Given the description of an element on the screen output the (x, y) to click on. 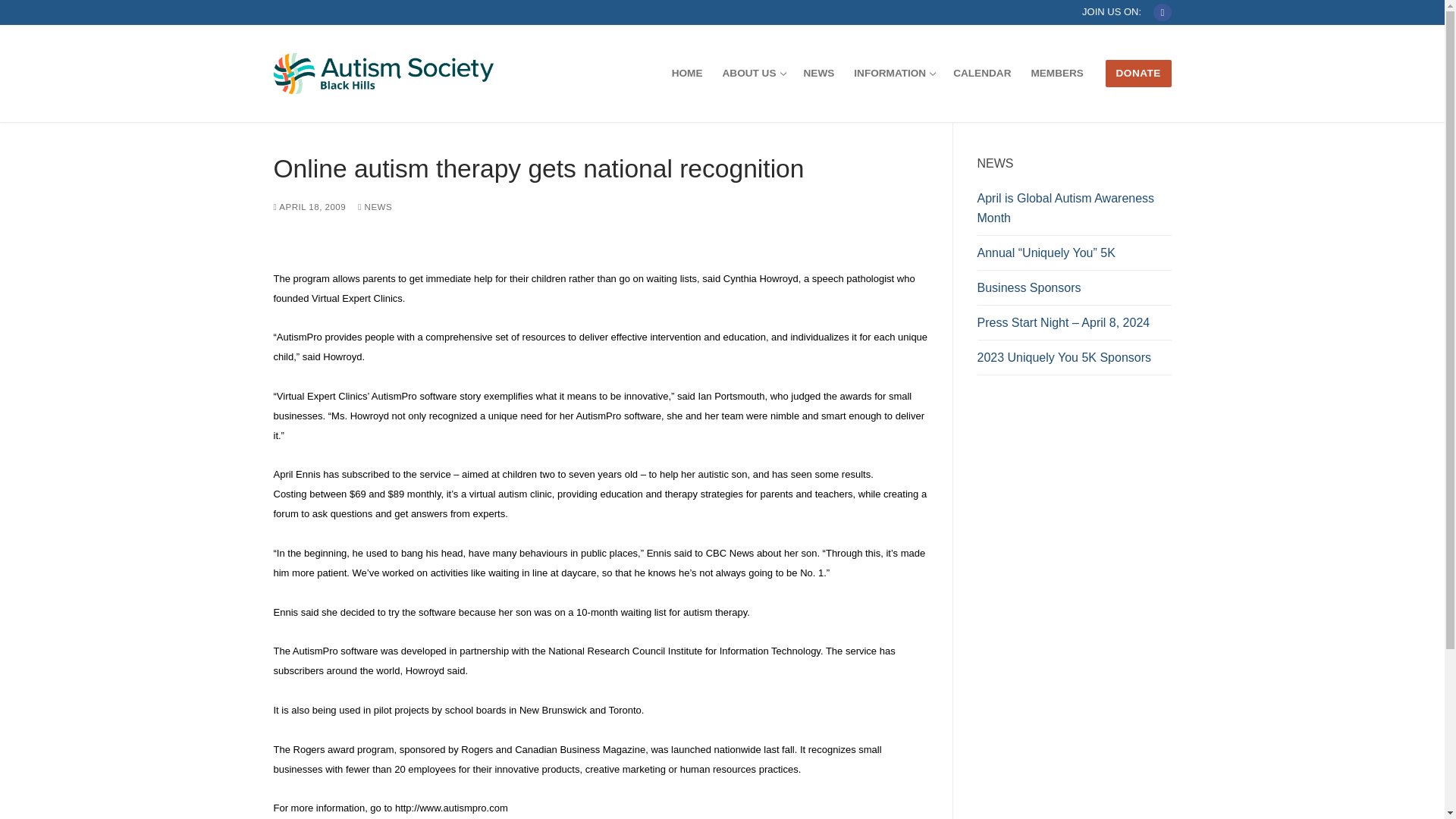
DONATE (1138, 73)
Facebook (893, 72)
Business Sponsors (1162, 12)
HOME (1073, 291)
APRIL 18, 2009 (687, 72)
NEWS (309, 206)
CALENDAR (374, 206)
April is Global Autism Awareness Month (753, 72)
